Given the description of an element on the screen output the (x, y) to click on. 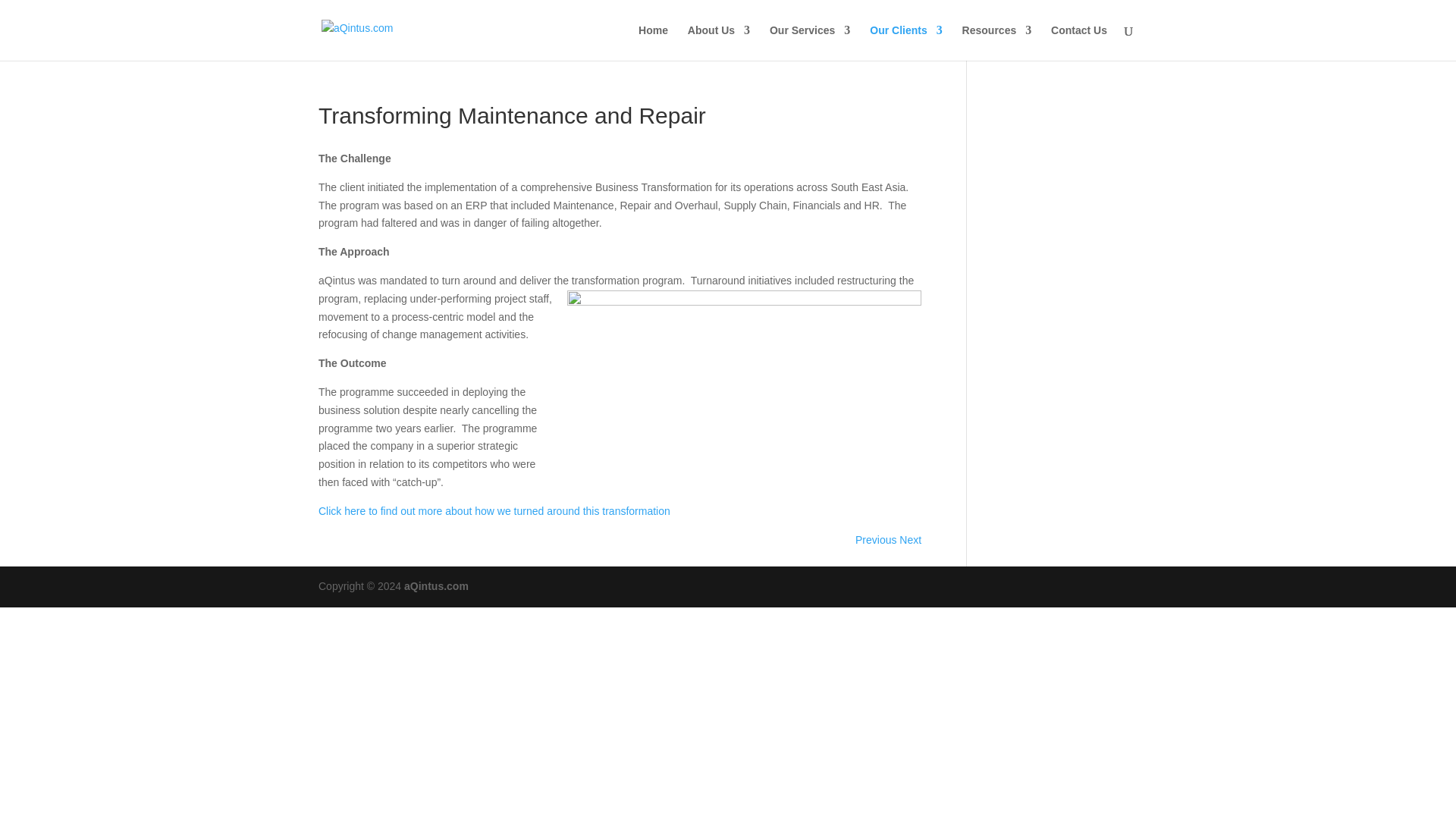
About Us (718, 42)
Diagram Functional   Silos to Processes (744, 389)
Our Services (810, 42)
Our Clients (905, 42)
Resources (997, 42)
